Given the description of an element on the screen output the (x, y) to click on. 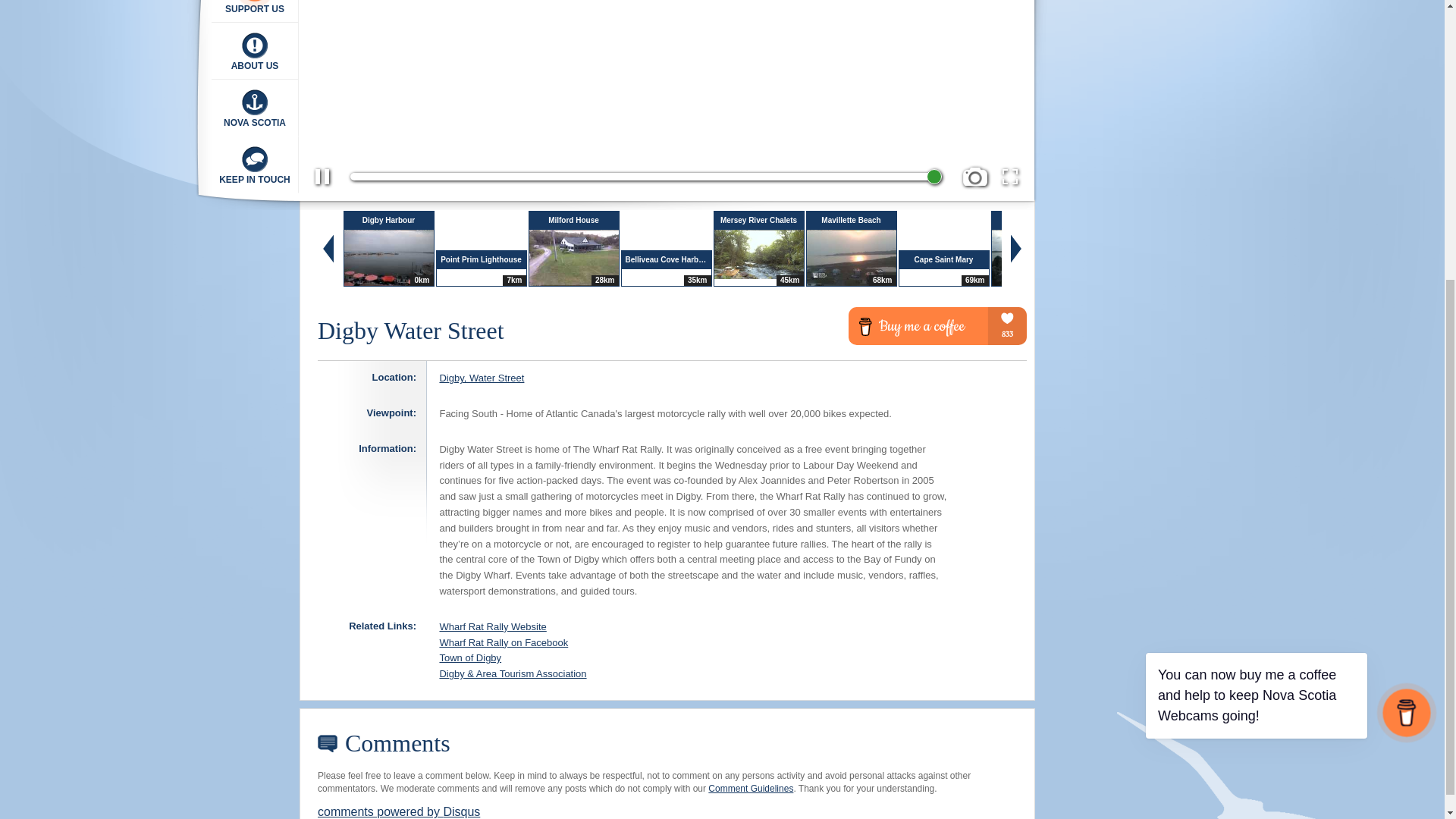
Pier 21 (105, 7)
Peggys Cove Lighthouse (105, 85)
Screenshot (974, 176)
Lockeport Crescent Beach (105, 131)
Fullscreen (1010, 176)
BeeCam (105, 38)
